Given the description of an element on the screen output the (x, y) to click on. 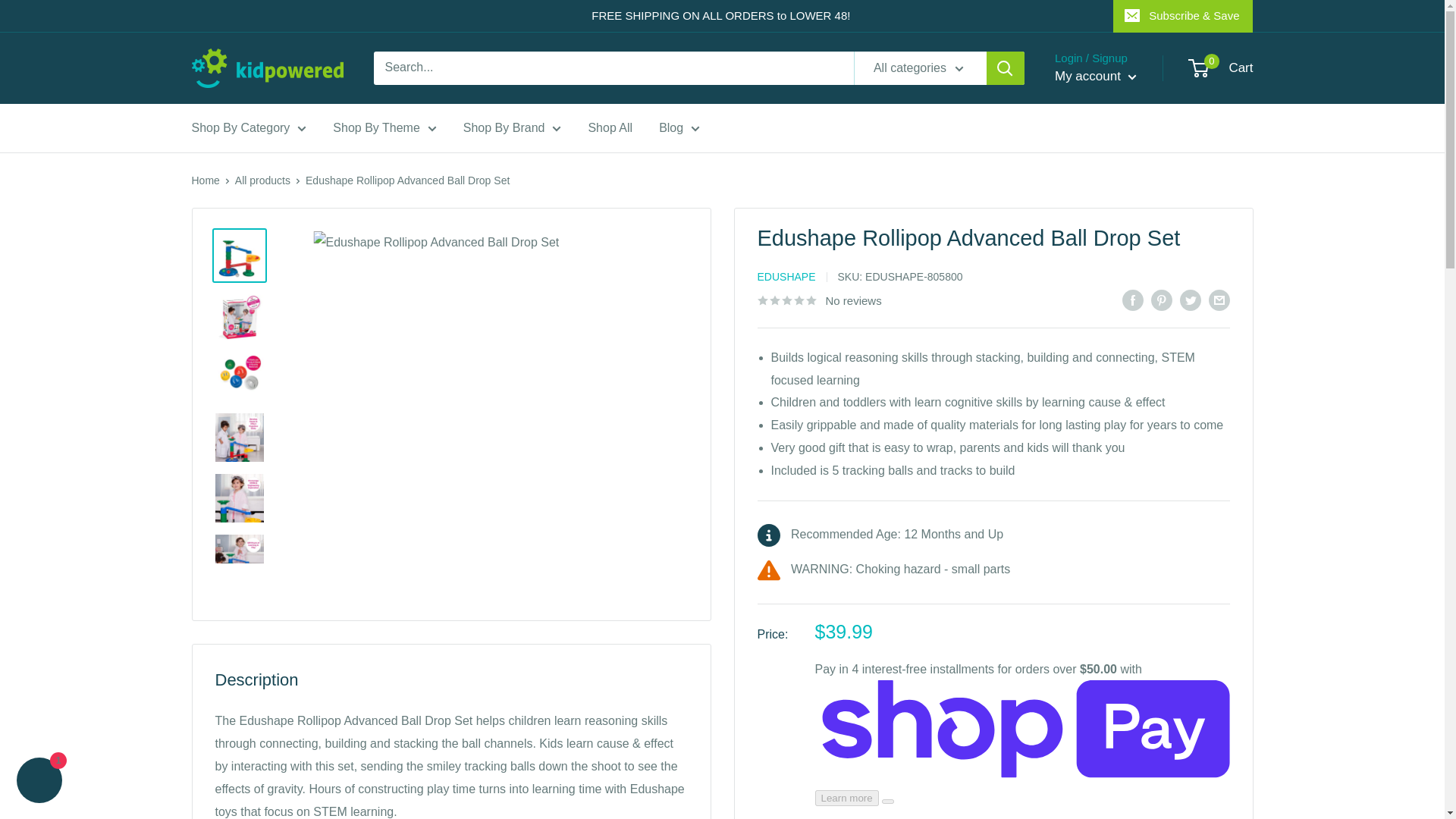
Shopify online store chat (38, 781)
